Given the description of an element on the screen output the (x, y) to click on. 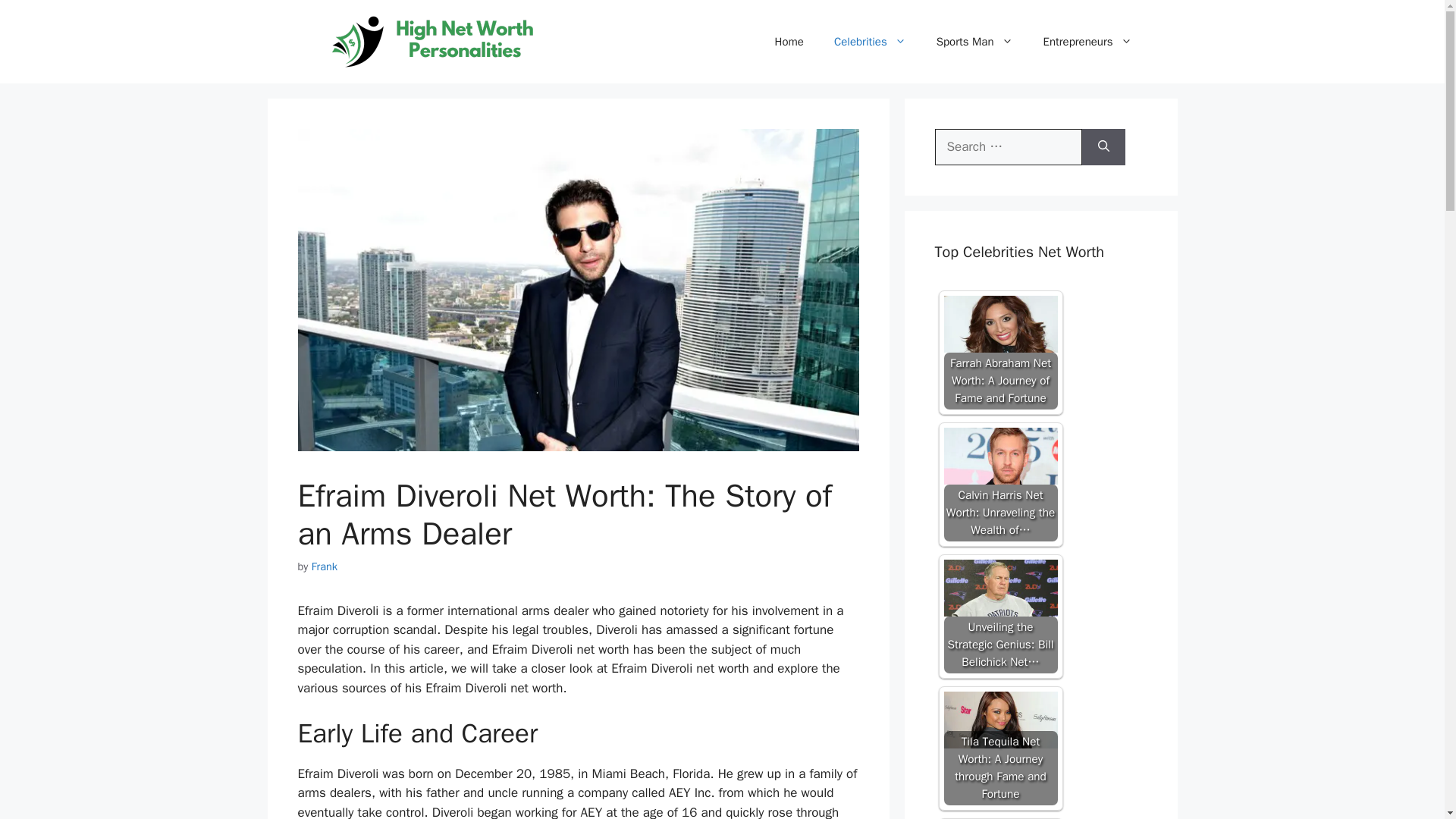
Entrepreneurs (1087, 41)
Home (789, 41)
View all posts by Frank (324, 566)
Celebrities (869, 41)
Sports Man (974, 41)
Frank (324, 566)
